Given the description of an element on the screen output the (x, y) to click on. 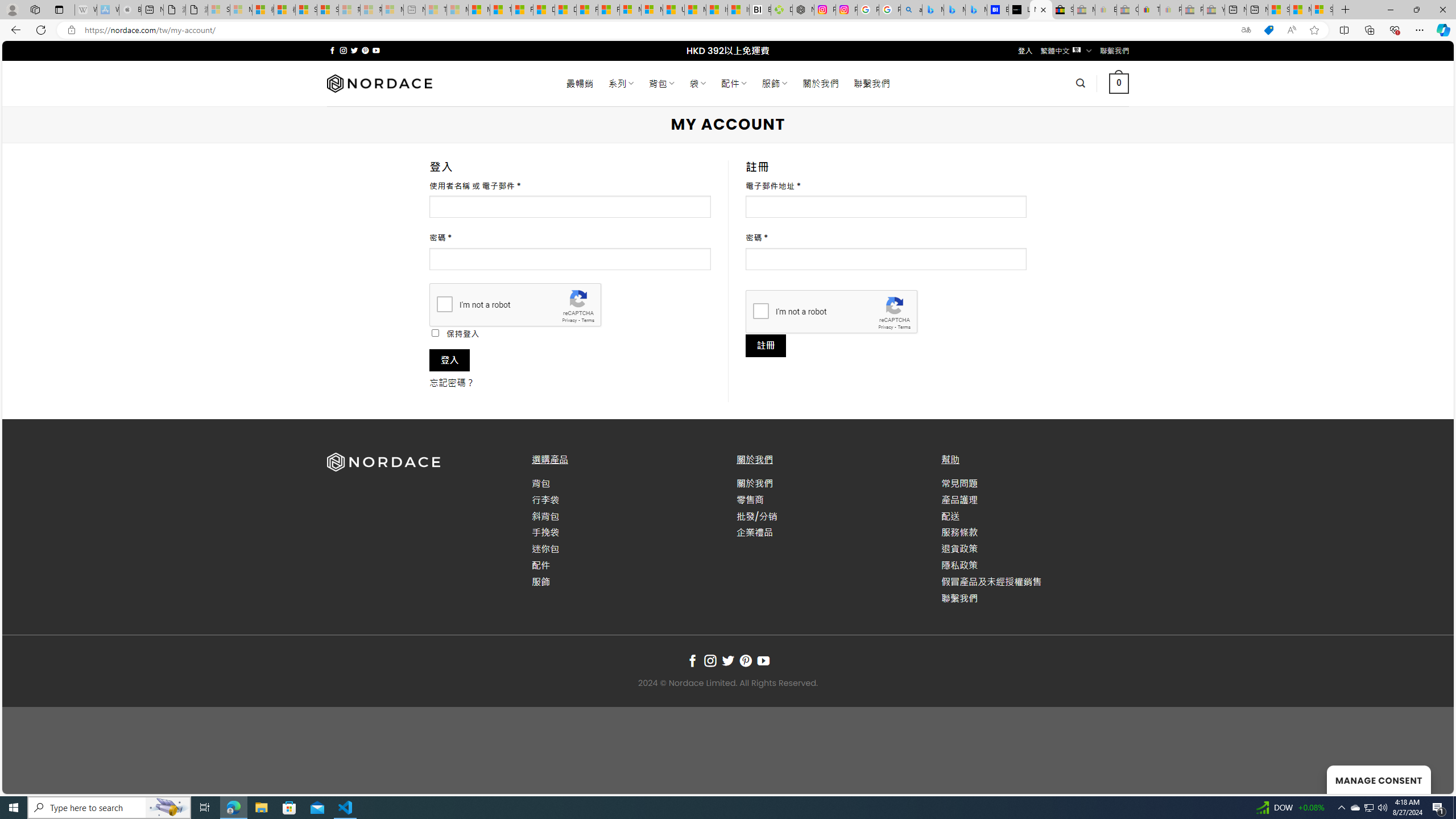
Buy iPad - Apple - Sleeping (130, 9)
Follow on YouTube (763, 660)
Terms (903, 326)
Follow on Pinterest (745, 660)
Nordace - Nordace Edin Collection (802, 9)
